Given the description of an element on the screen output the (x, y) to click on. 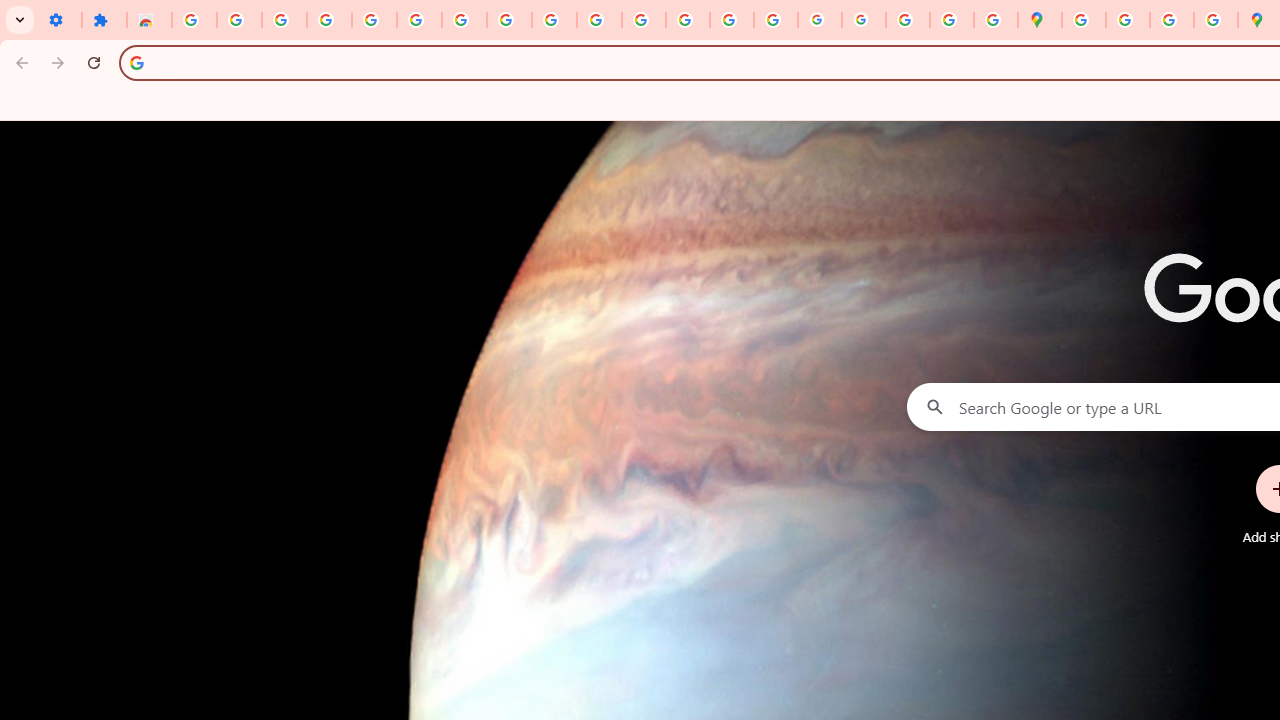
Google Account (509, 20)
Safety in Our Products - Google Safety Center (1215, 20)
